Given the description of an element on the screen output the (x, y) to click on. 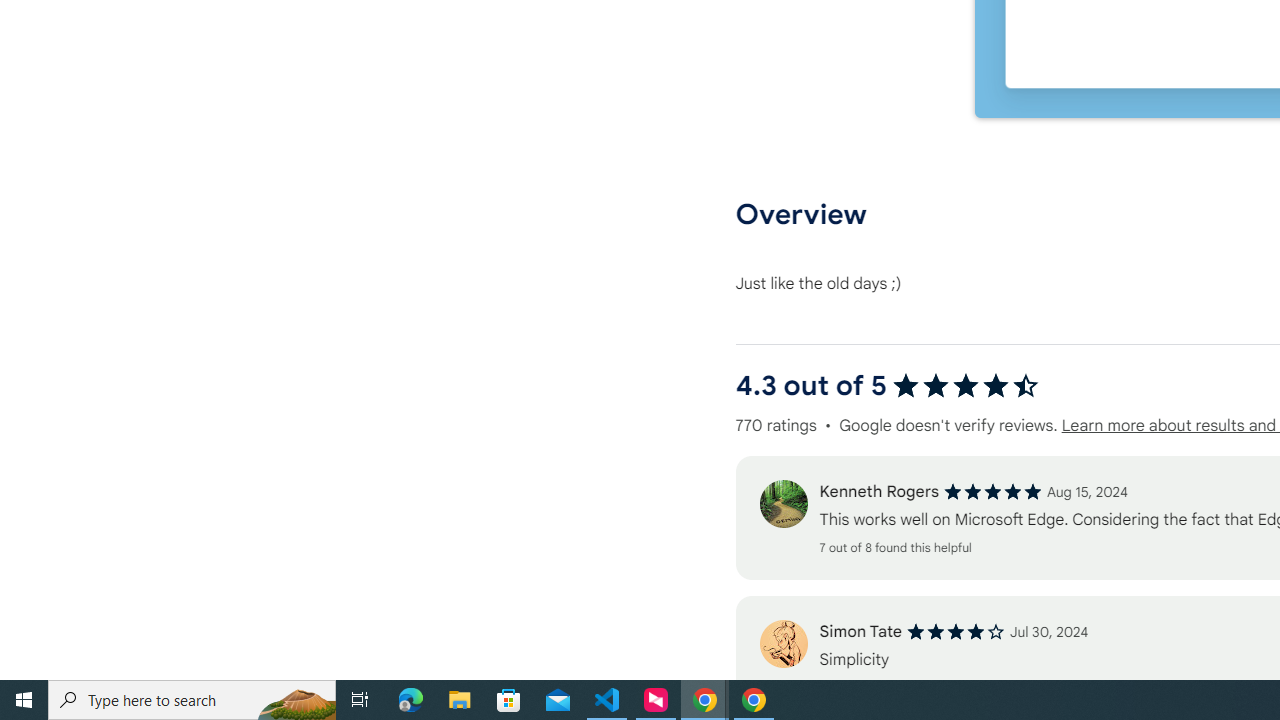
5 out of 5 stars (992, 492)
4 out of 5 stars (956, 632)
Review's profile picture (783, 643)
4.3 out of 5 stars (965, 385)
